Given the description of an element on the screen output the (x, y) to click on. 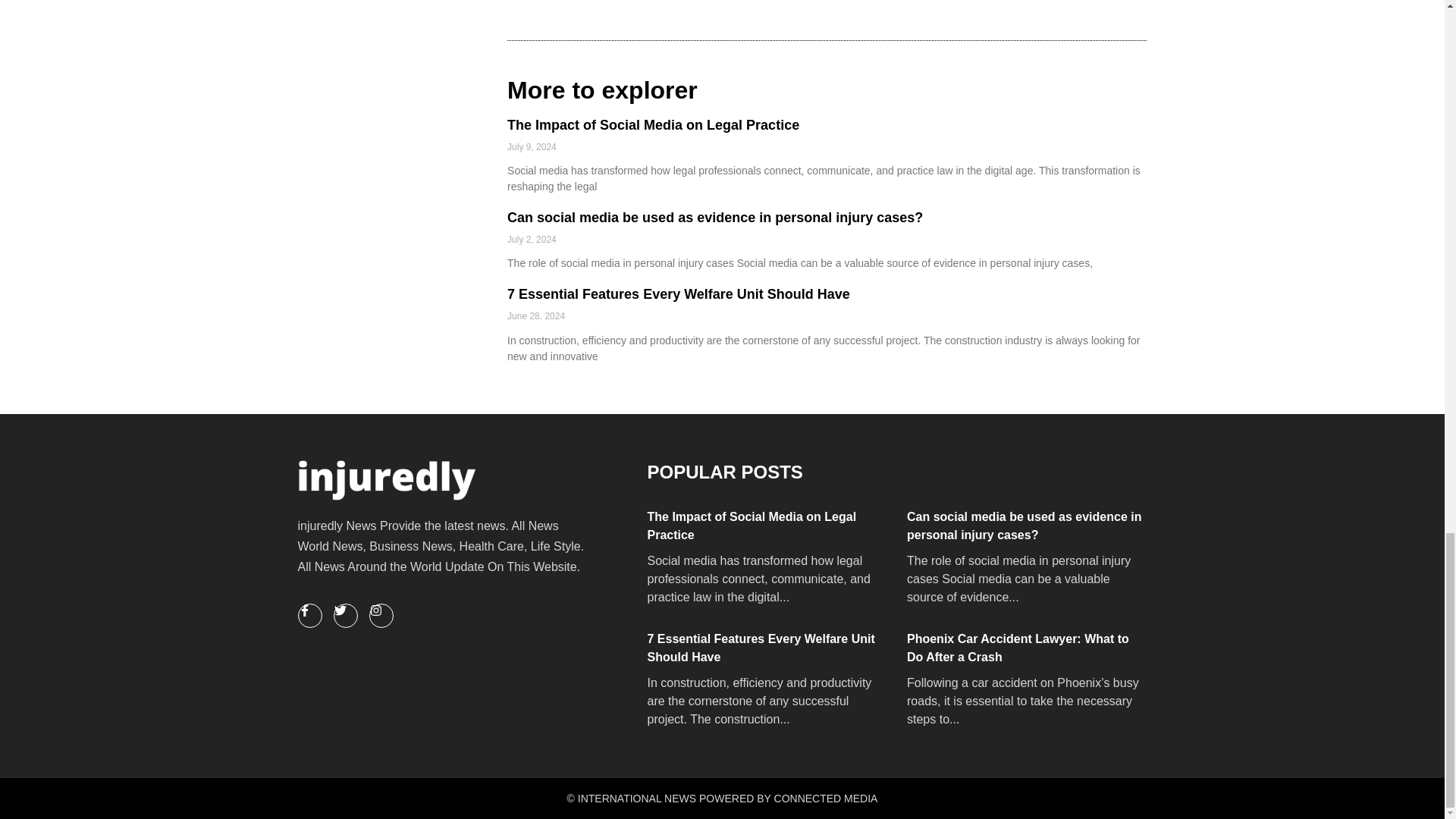
The Impact of Social Media on Legal Practice (765, 525)
7 Essential Features Every Welfare Unit Should Have (765, 647)
Phoenix Car Accident Lawyer: What to Do After a Crash (1024, 647)
